Given the description of an element on the screen output the (x, y) to click on. 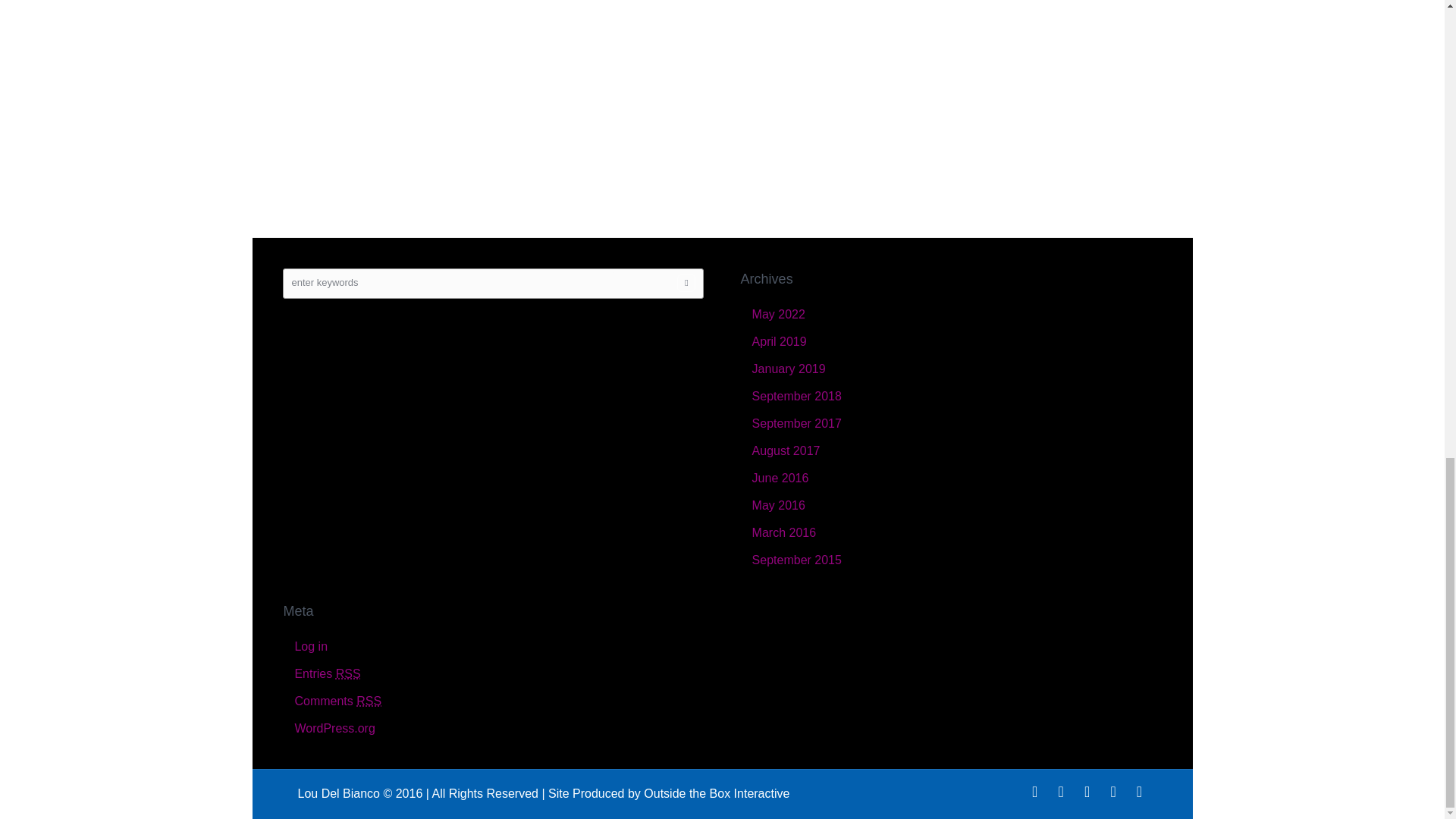
September 2017 (796, 422)
The latest comments to all posts in RSS (337, 700)
May 2022 (778, 314)
June 2016 (780, 477)
September 2015 (796, 559)
WordPress.org (334, 727)
May 2016 (778, 504)
Linkedin (1113, 791)
Really Simple Syndication (348, 673)
